Given the description of an element on the screen output the (x, y) to click on. 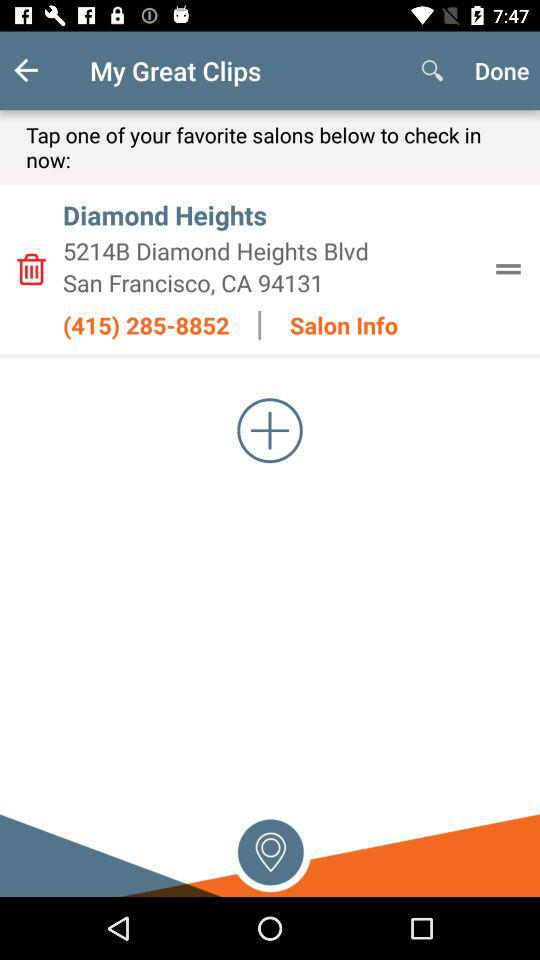
choose the icon below diamond heights (269, 250)
